Given the description of an element on the screen output the (x, y) to click on. 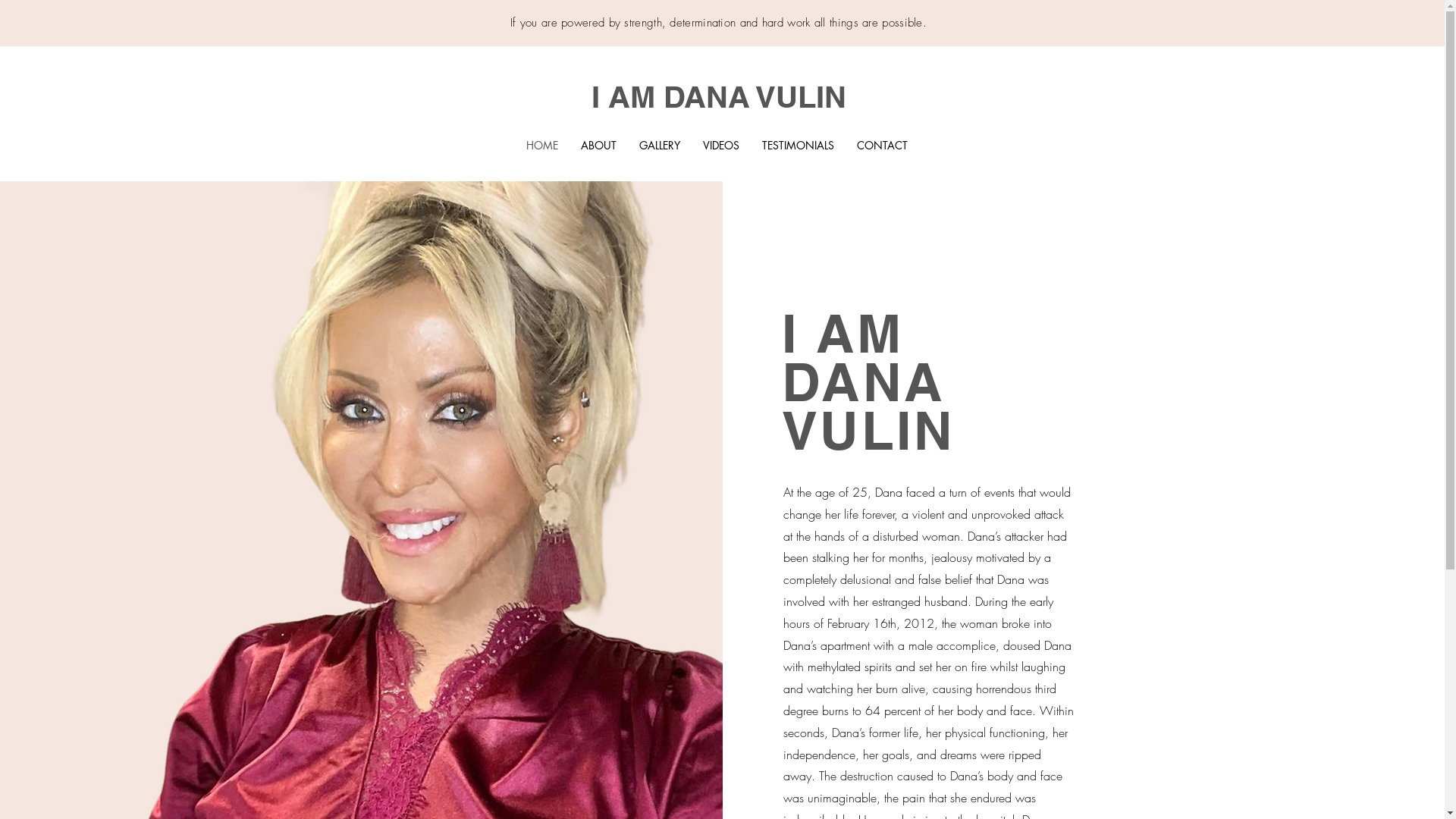
CONTACT Element type: text (882, 144)
HOME Element type: text (541, 144)
ABOUT Element type: text (598, 144)
TESTIMONIALS Element type: text (797, 144)
VIDEOS Element type: text (720, 144)
GALLERY Element type: text (659, 144)
I AM DANA VULIN Element type: text (718, 96)
